Given the description of an element on the screen output the (x, y) to click on. 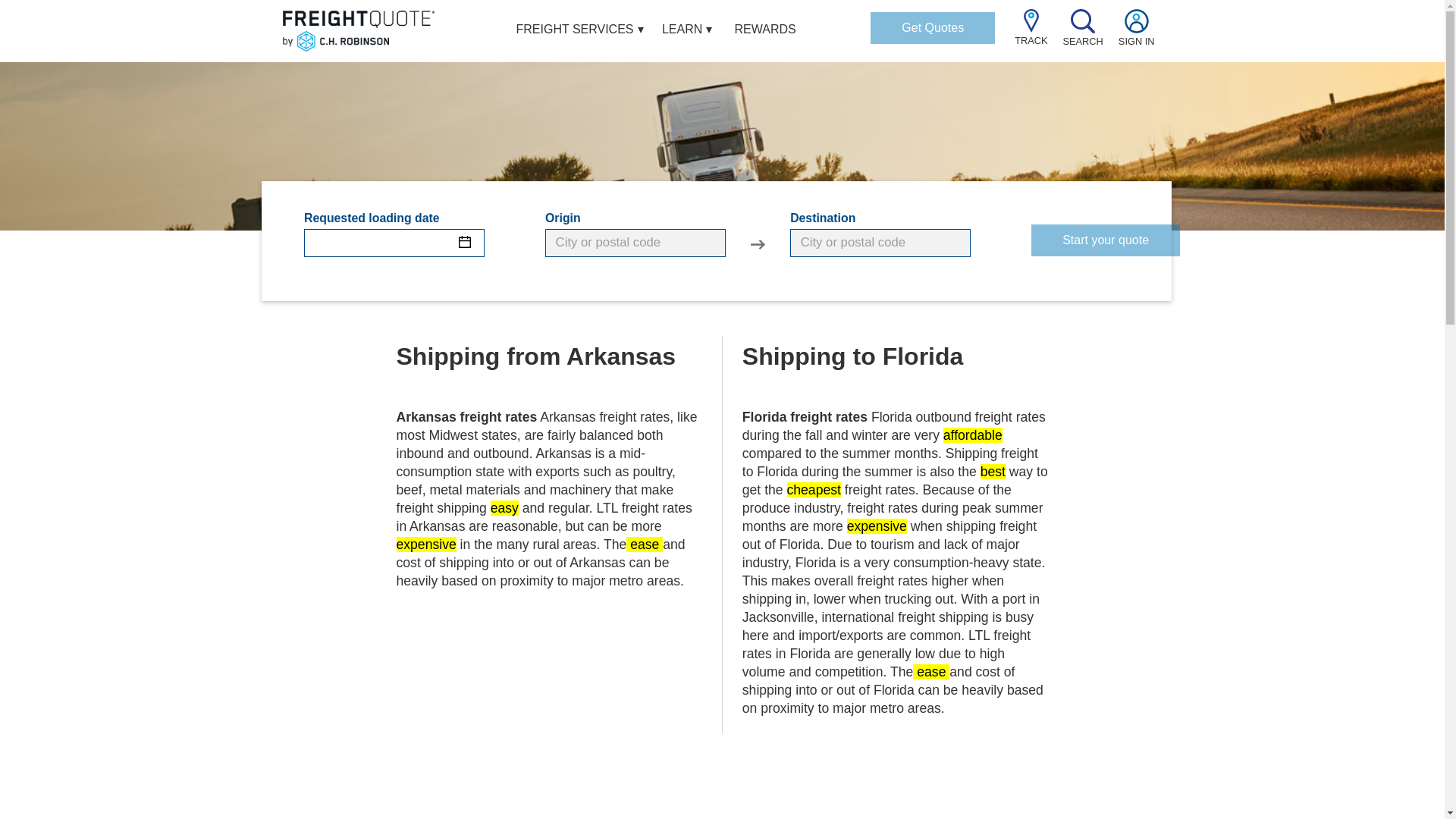
FREIGHT SERVICES (574, 31)
SEARCH (1082, 34)
Get Quotes (932, 28)
SIGN IN (1136, 34)
Start your quote (1104, 240)
TRACK (1030, 34)
REWARDS (765, 31)
